Given the description of an element on the screen output the (x, y) to click on. 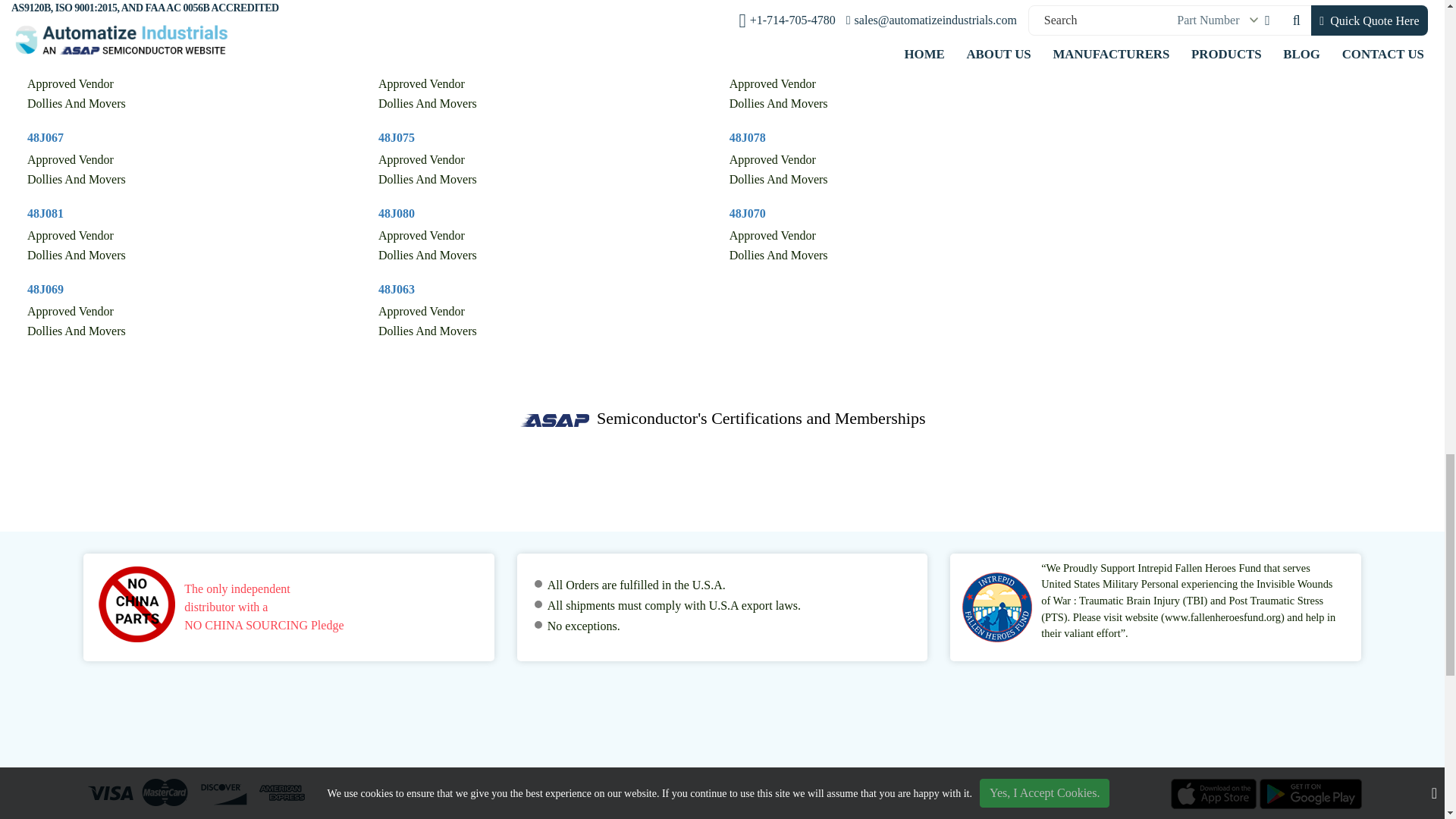
48J067 (45, 137)
48J076 (45, 61)
48J073 (747, 61)
48J075 (396, 137)
48J080 (396, 213)
48J072 (396, 61)
48J078 (747, 137)
48J081 (45, 213)
